Given the description of an element on the screen output the (x, y) to click on. 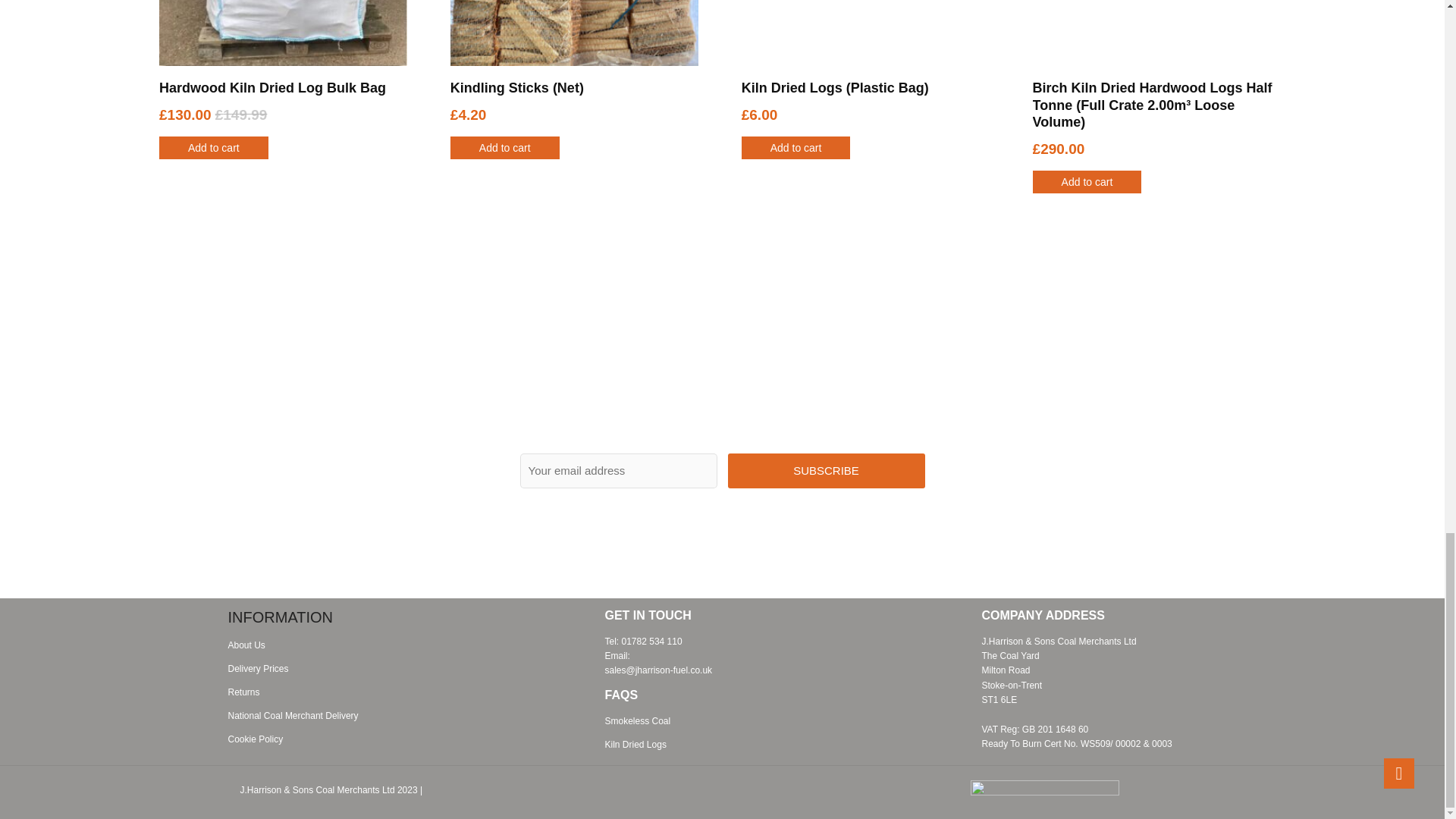
Subscribe (826, 470)
Add to cart (212, 147)
Add to cart (795, 147)
Add to cart (504, 147)
J Harrison's Coal Merchant (331, 793)
